Given the description of an element on the screen output the (x, y) to click on. 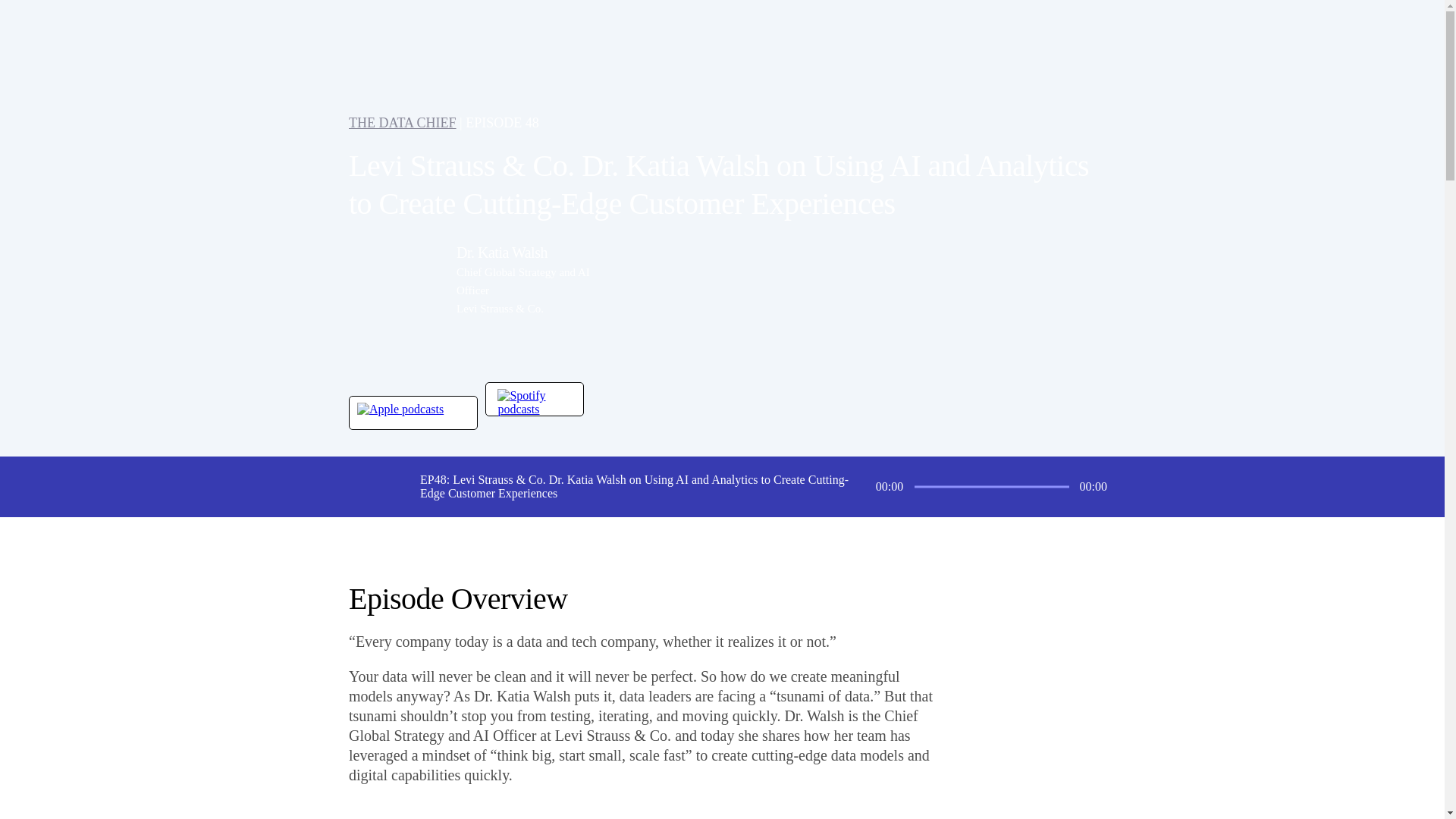
THE DATA CHIEF (403, 122)
